Given the description of an element on the screen output the (x, y) to click on. 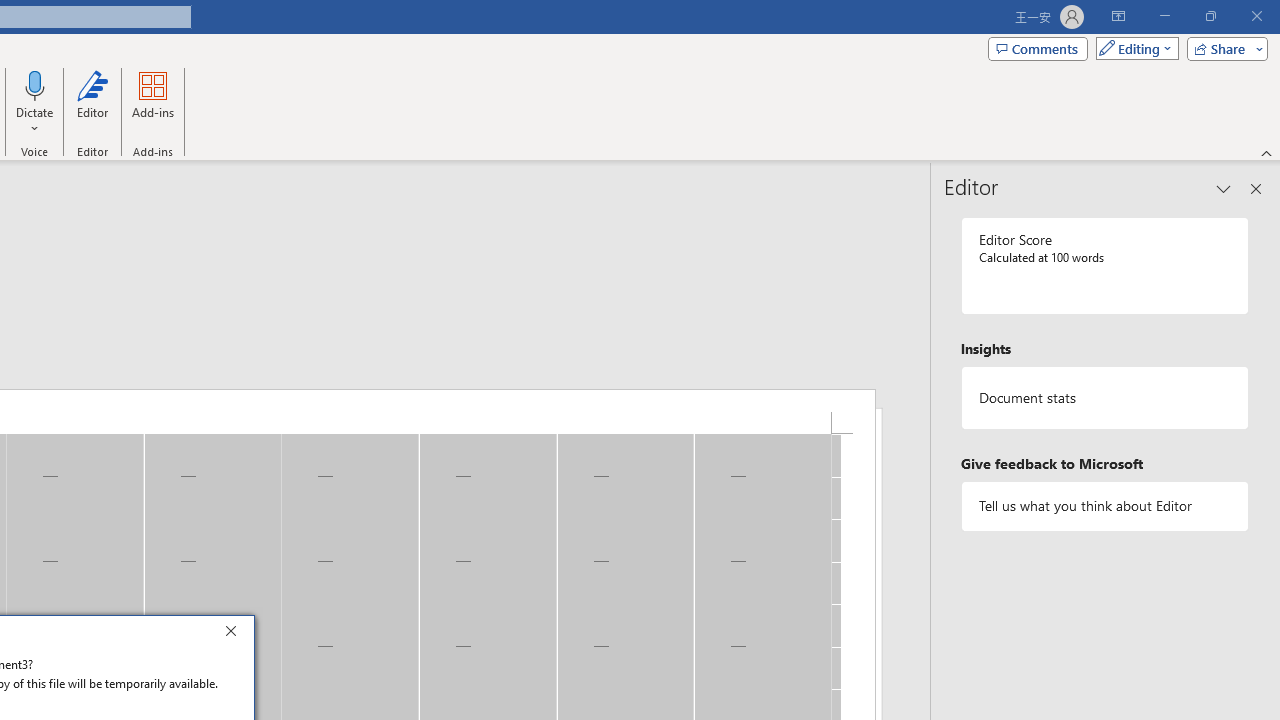
Mode (1133, 47)
Editor (92, 102)
Close (236, 633)
Minimize (1164, 16)
